Given the description of an element on the screen output the (x, y) to click on. 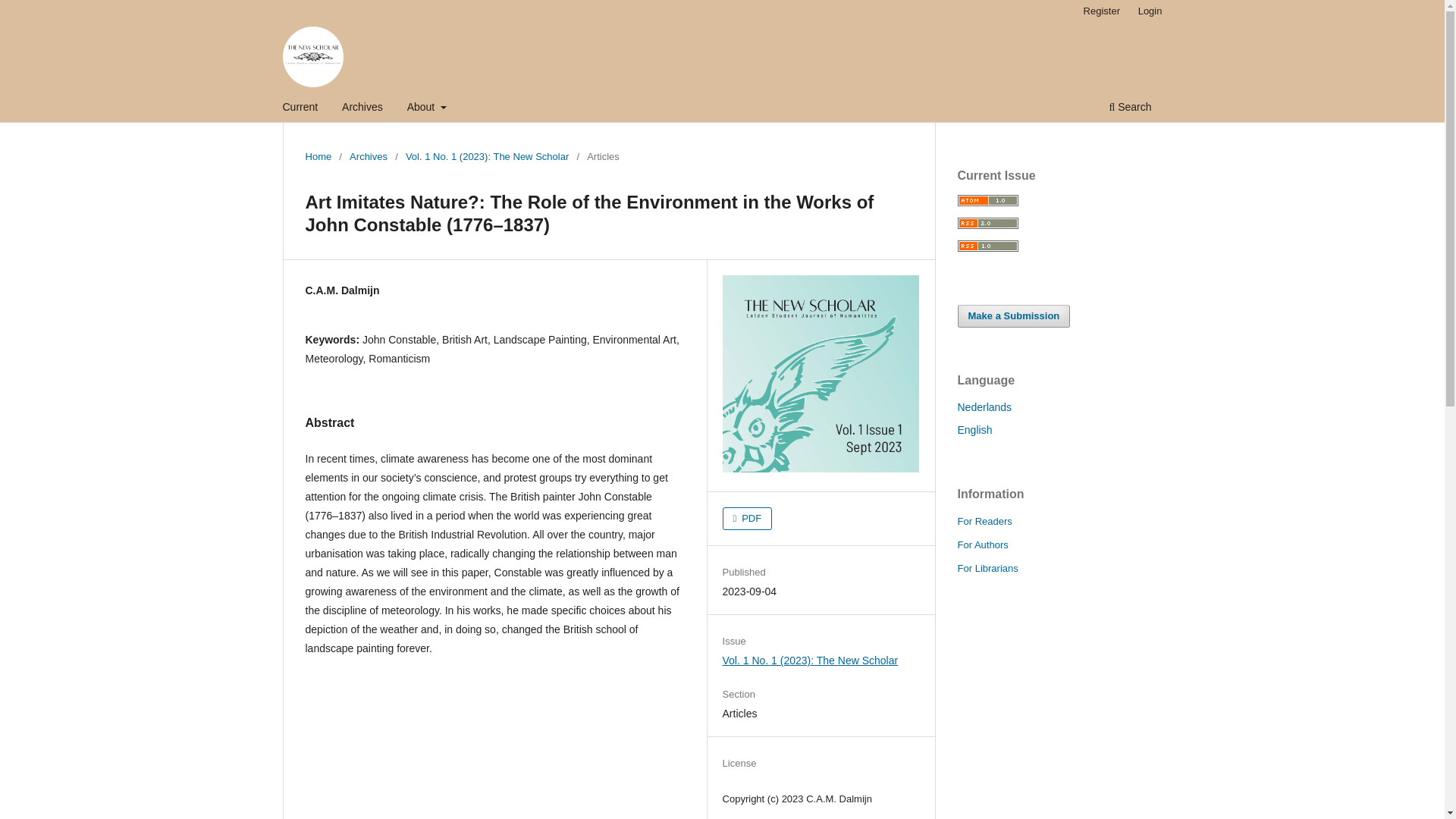
Make a Submission (1013, 315)
Search (1129, 108)
English (973, 429)
Archives (368, 156)
Nederlands (983, 407)
Home (317, 156)
About (426, 108)
For Readers (983, 521)
Current (300, 108)
Login (1150, 11)
